Given the description of an element on the screen output the (x, y) to click on. 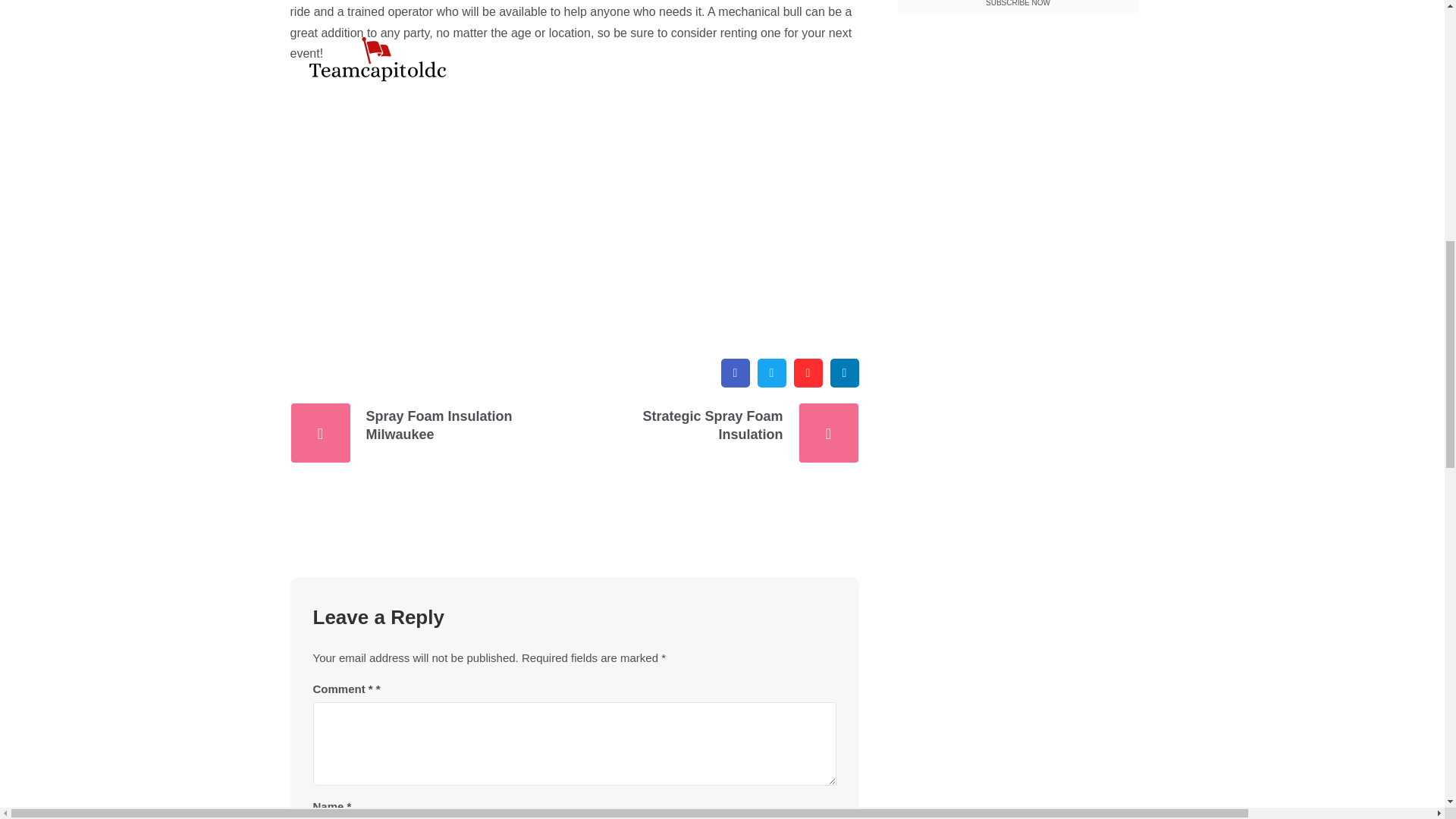
Strategic Spray Foam Insulation (703, 425)
Spray Foam Insulation Milwaukee (444, 425)
SUBSCRIBE NOW (1017, 6)
SUBSCRIBE NOW (1017, 6)
